Given the description of an element on the screen output the (x, y) to click on. 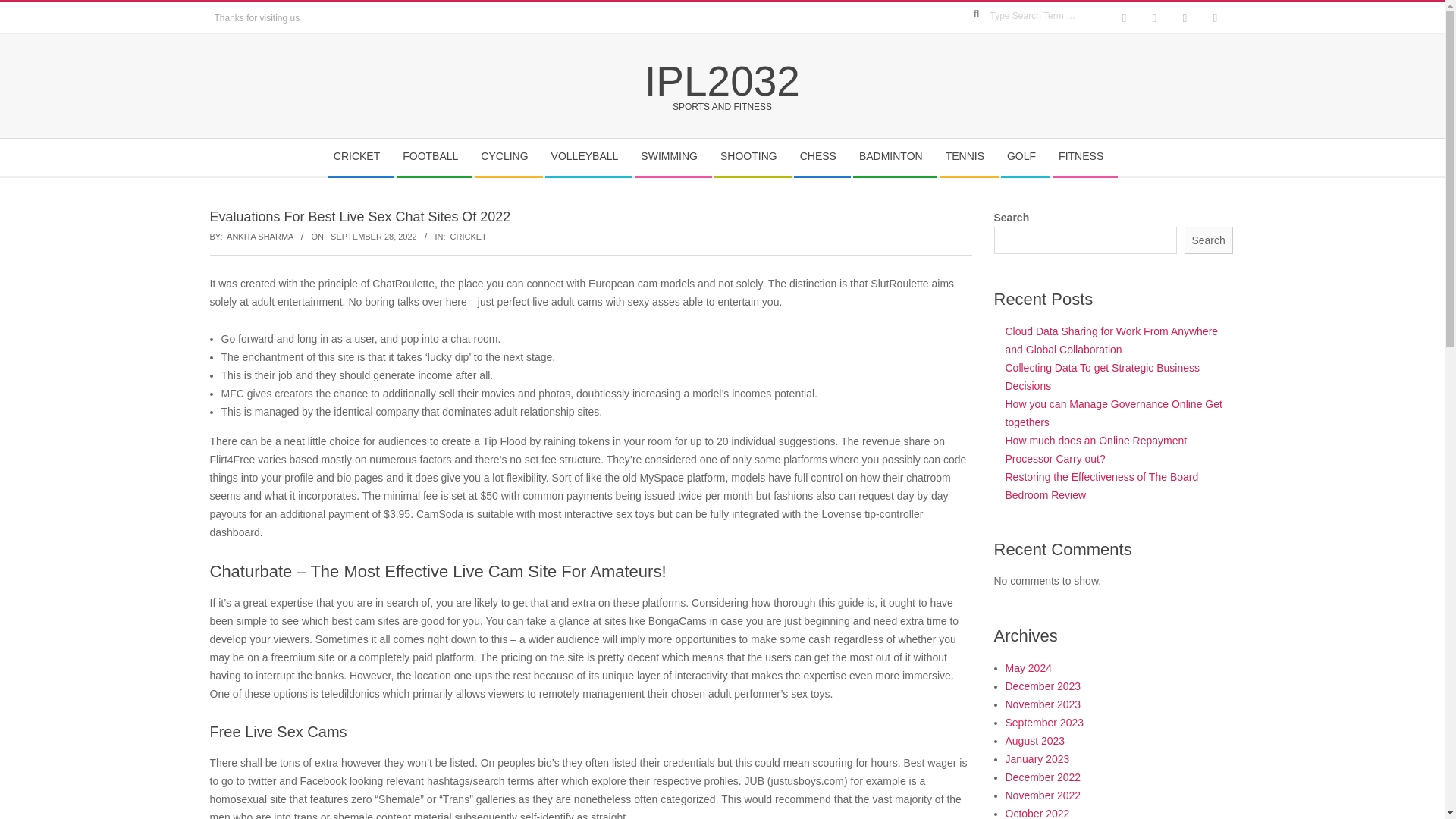
November 2022 (1043, 795)
SHOOTING (752, 157)
CRICKET (360, 157)
TENNIS (967, 157)
January 2023 (1038, 758)
CHESS (821, 157)
CYCLING (508, 157)
VOLLEYBALL (588, 157)
November 2023 (1043, 704)
FITNESS (1084, 157)
Restoring the Effectiveness of The Board Bedroom Review (1102, 485)
Search (1209, 240)
How much does an Online Repayment Processor Carry out? (1097, 449)
Collecting Data To get Strategic Business Decisions (1102, 376)
